Given the description of an element on the screen output the (x, y) to click on. 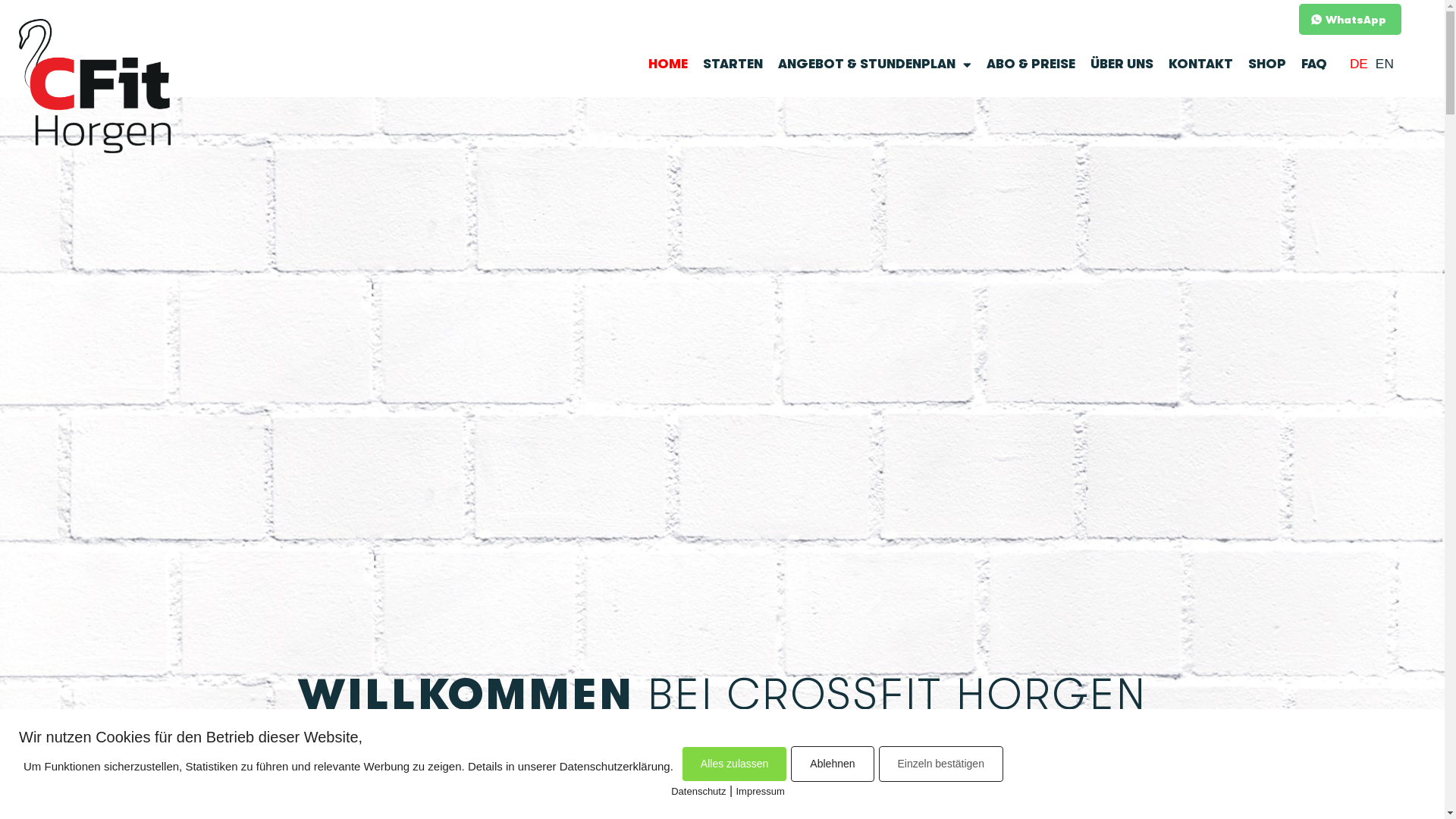
SHOP Element type: text (1266, 64)
EN Element type: text (1384, 63)
STARTEN Element type: text (732, 64)
WhatsApp Element type: text (1350, 18)
Ablehnen Element type: text (831, 763)
ABO & PREISE Element type: text (1030, 64)
Alles zulassen Element type: text (734, 763)
KONTAKT Element type: text (1200, 64)
ANGEBOT & STUNDENPLAN Element type: text (874, 64)
HOME Element type: text (667, 64)
DE Element type: text (1358, 63)
FAQ Element type: text (1313, 64)
Datenschutz Element type: text (698, 791)
Impressum Element type: text (759, 791)
